Given the description of an element on the screen output the (x, y) to click on. 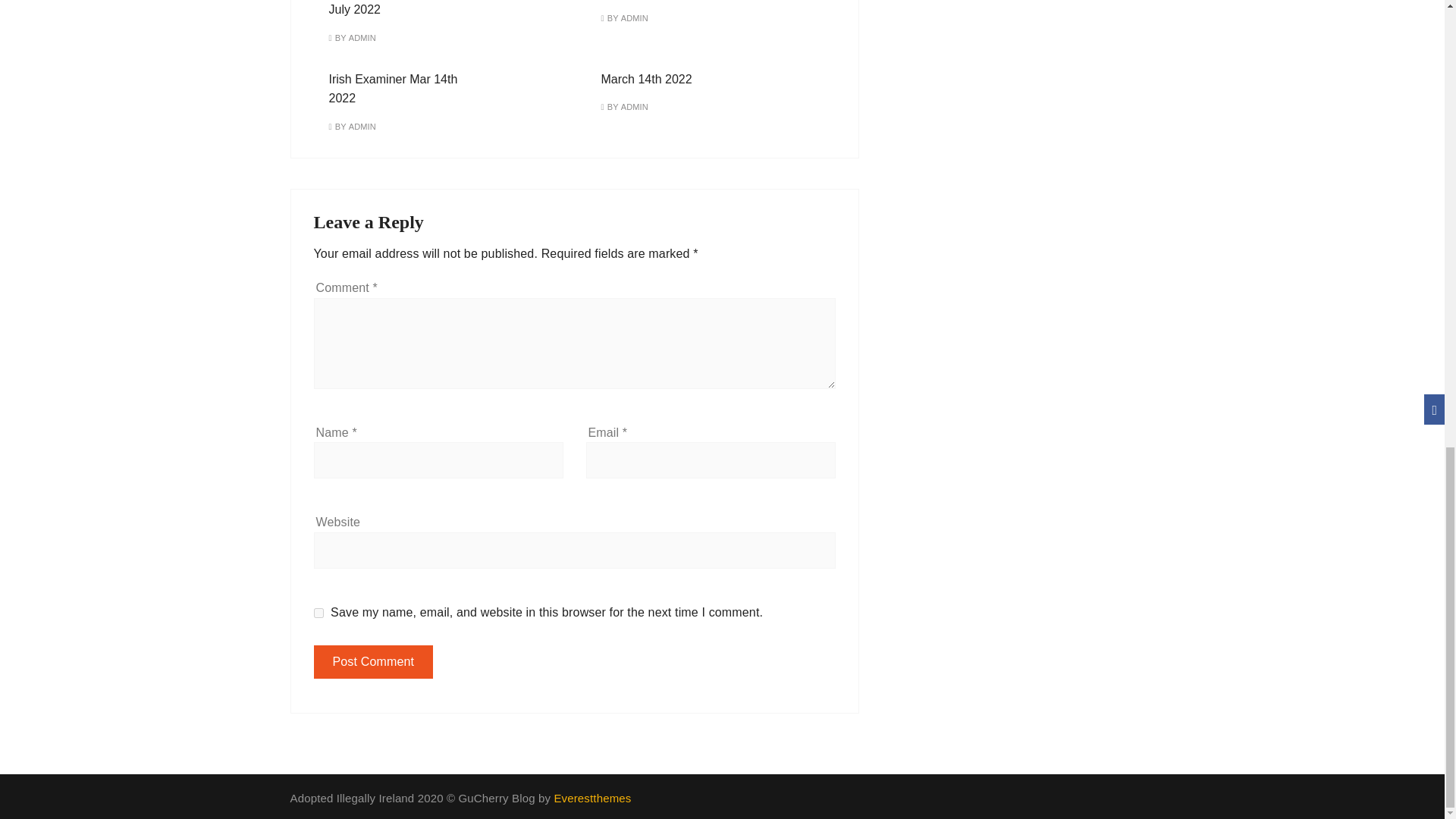
ADMIN (634, 18)
Post Comment (373, 661)
ADMIN (362, 38)
ADMIN (634, 107)
ADMIN (362, 126)
The Guardian July 21st July 2022 (391, 8)
Irish Examiner Mar 14th 2022 (393, 88)
Post Comment (373, 661)
yes (318, 613)
March 14th 2022 (645, 78)
